Given the description of an element on the screen output the (x, y) to click on. 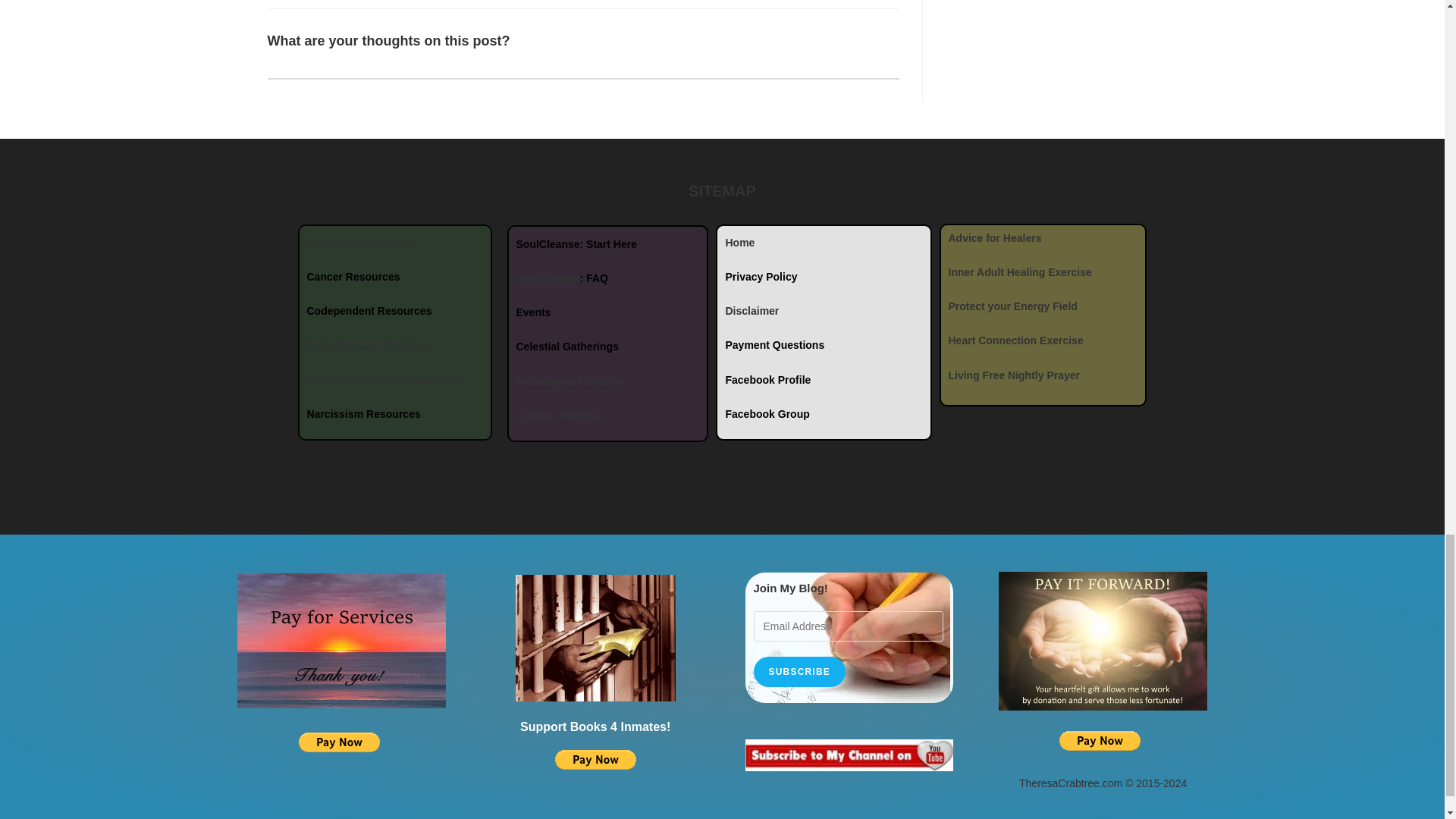
SoulCleanse: Start Here (576, 244)
Daily Spiritual Practices (366, 345)
Narcissism Resources (362, 413)
Inner Child Healing Resources (382, 379)
PayPal - The safer, easier way to pay online! (1099, 741)
Cancer Resources (351, 276)
SoulCleanse (547, 277)
Addiction Resources (358, 242)
Codependent Resources (367, 310)
